Given the description of an element on the screen output the (x, y) to click on. 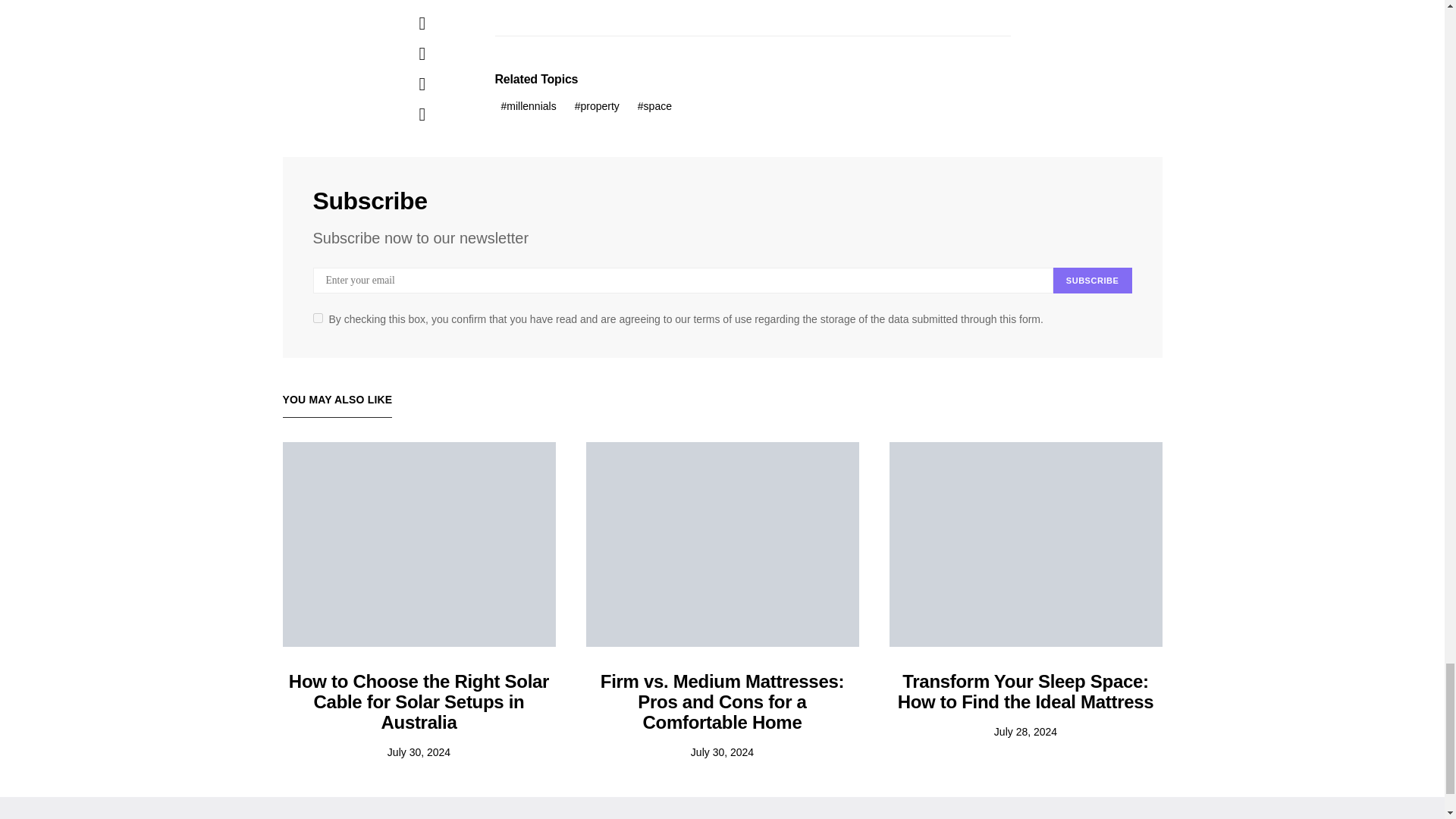
on (317, 317)
